Given the description of an element on the screen output the (x, y) to click on. 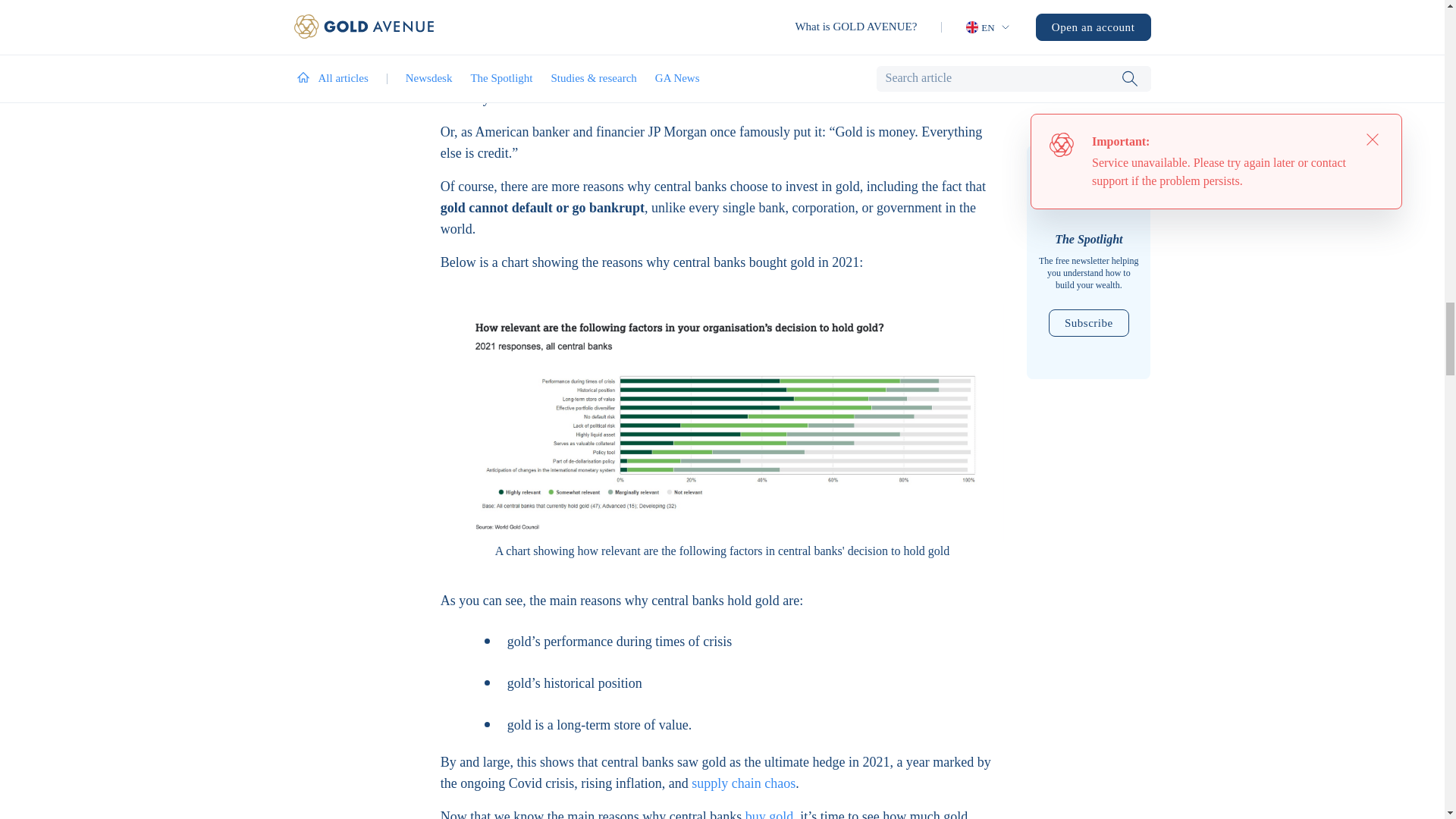
supply chain chaos (742, 783)
paper money losing value (651, 23)
buy gold (769, 814)
